Given the description of an element on the screen output the (x, y) to click on. 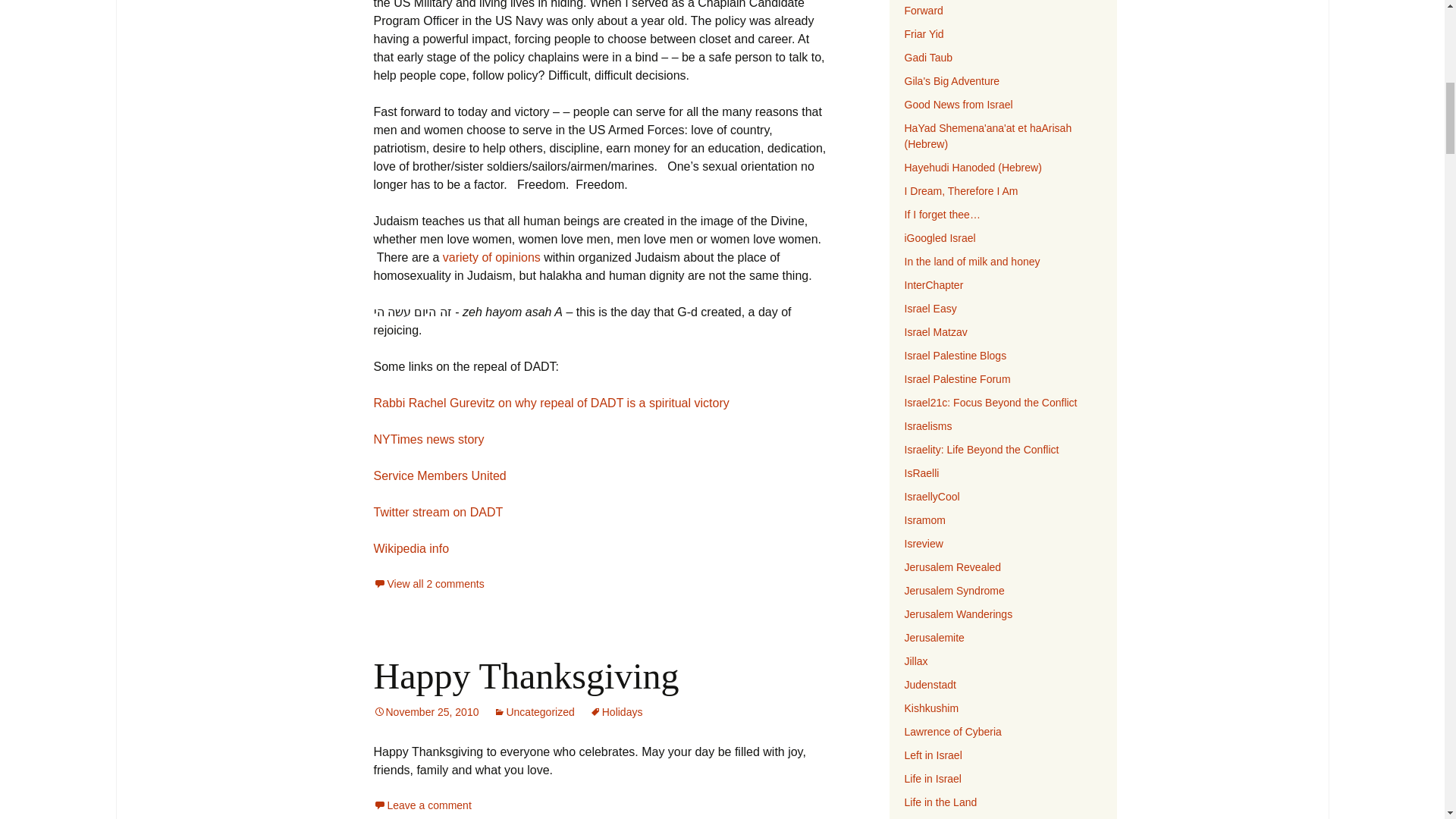
View all 2 comments (427, 583)
variety of opinions (491, 256)
Comment on Happy Thanksgiving (421, 805)
Happy Thanksgiving (525, 676)
Twitter stream on DADT (437, 512)
Wikipedia info (410, 548)
NYTimes news story (427, 439)
Service Members United (438, 475)
Permalink to Happy Thanksgiving (425, 711)
